Given the description of an element on the screen output the (x, y) to click on. 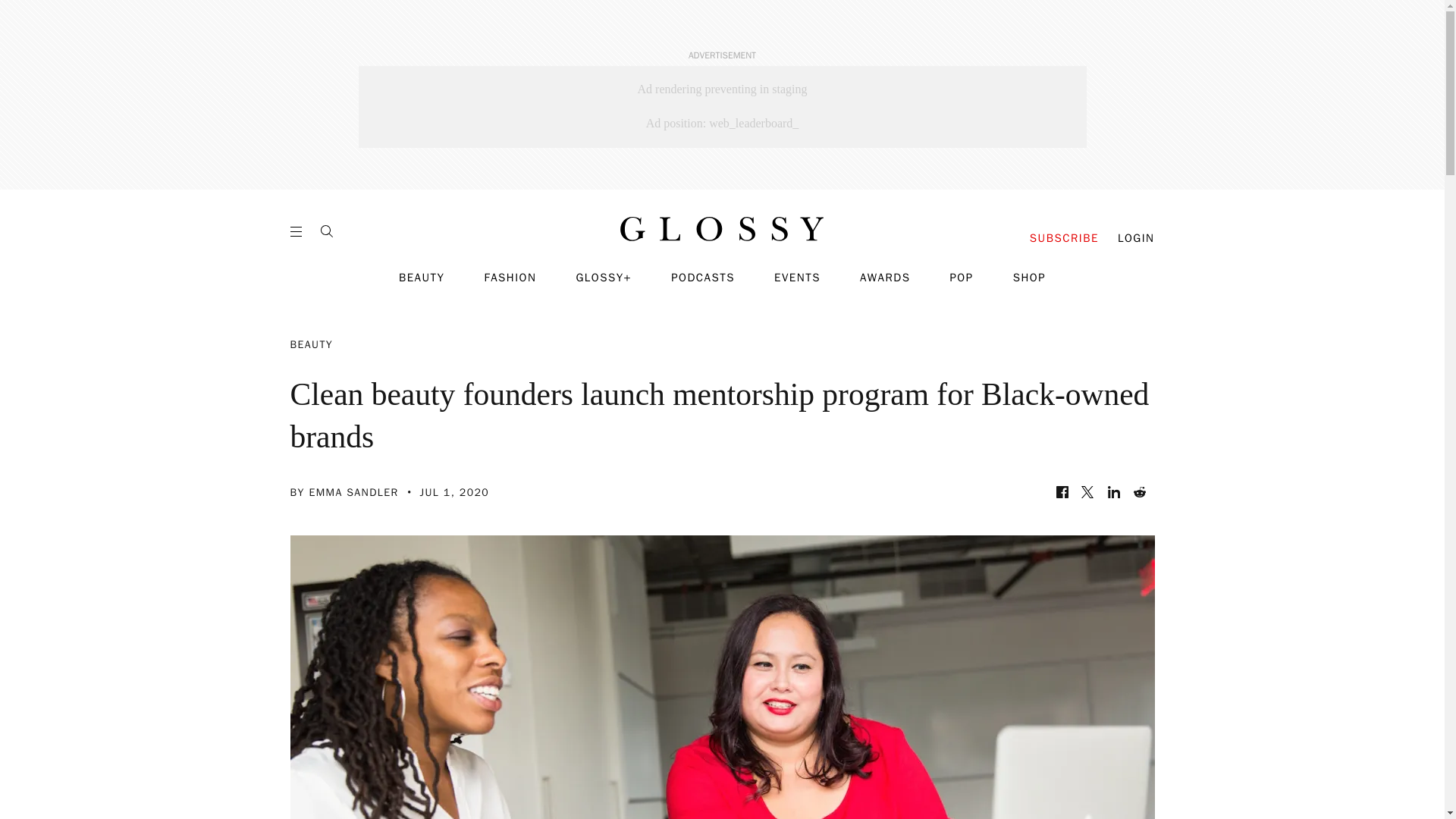
AWARDS (885, 277)
SUBSCRIBE (1064, 238)
FASHION (509, 277)
PODCASTS (703, 277)
BEAUTY (421, 277)
LOGIN (1136, 238)
SHOP (1029, 277)
EVENTS (797, 277)
POP (960, 277)
